Given the description of an element on the screen output the (x, y) to click on. 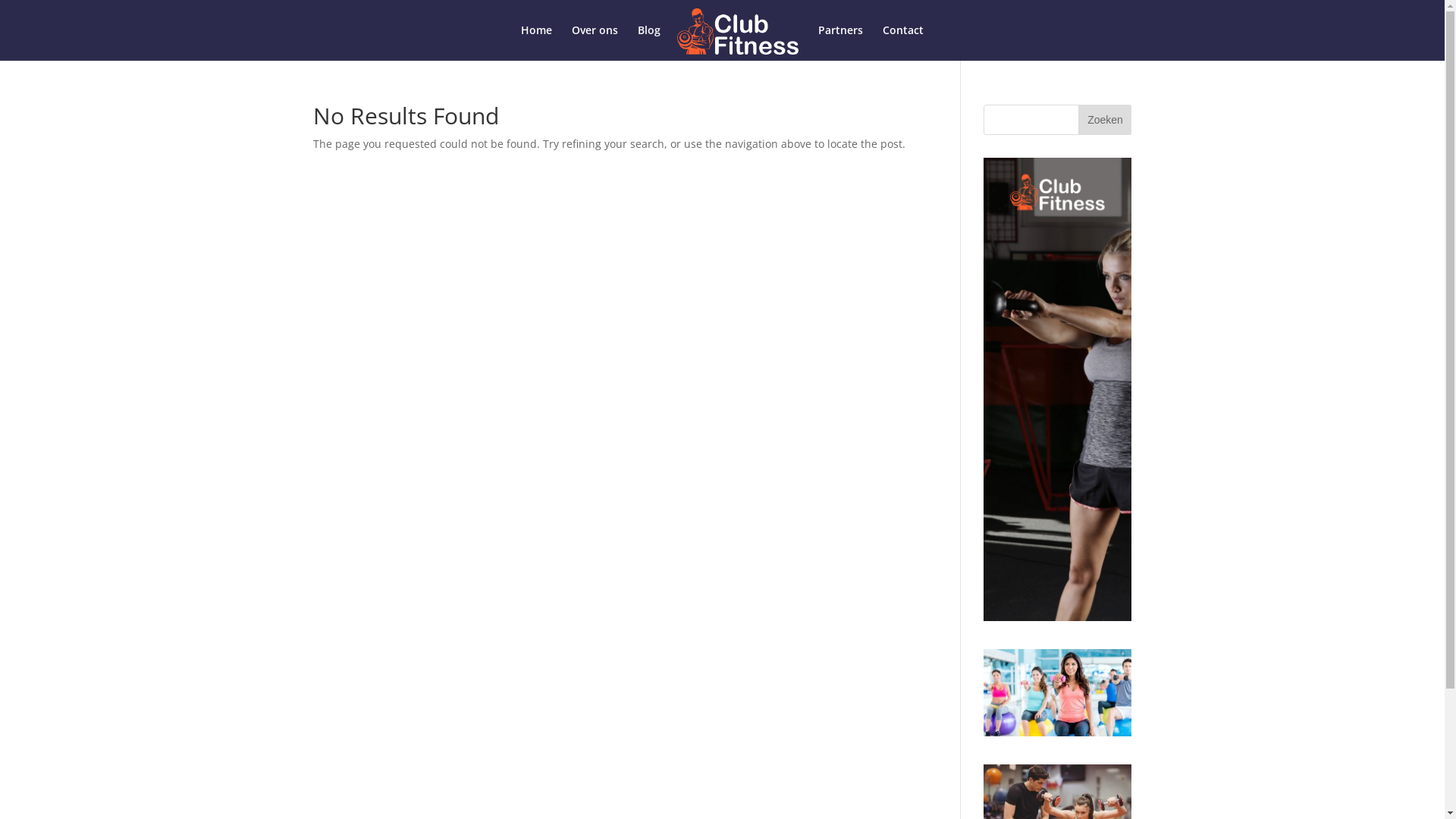
Partners Element type: text (840, 42)
Zoeken Element type: text (1104, 119)
Over ons Element type: text (594, 42)
Contact Element type: text (902, 42)
Home Element type: text (536, 42)
Blog Element type: text (648, 42)
